Given the description of an element on the screen output the (x, y) to click on. 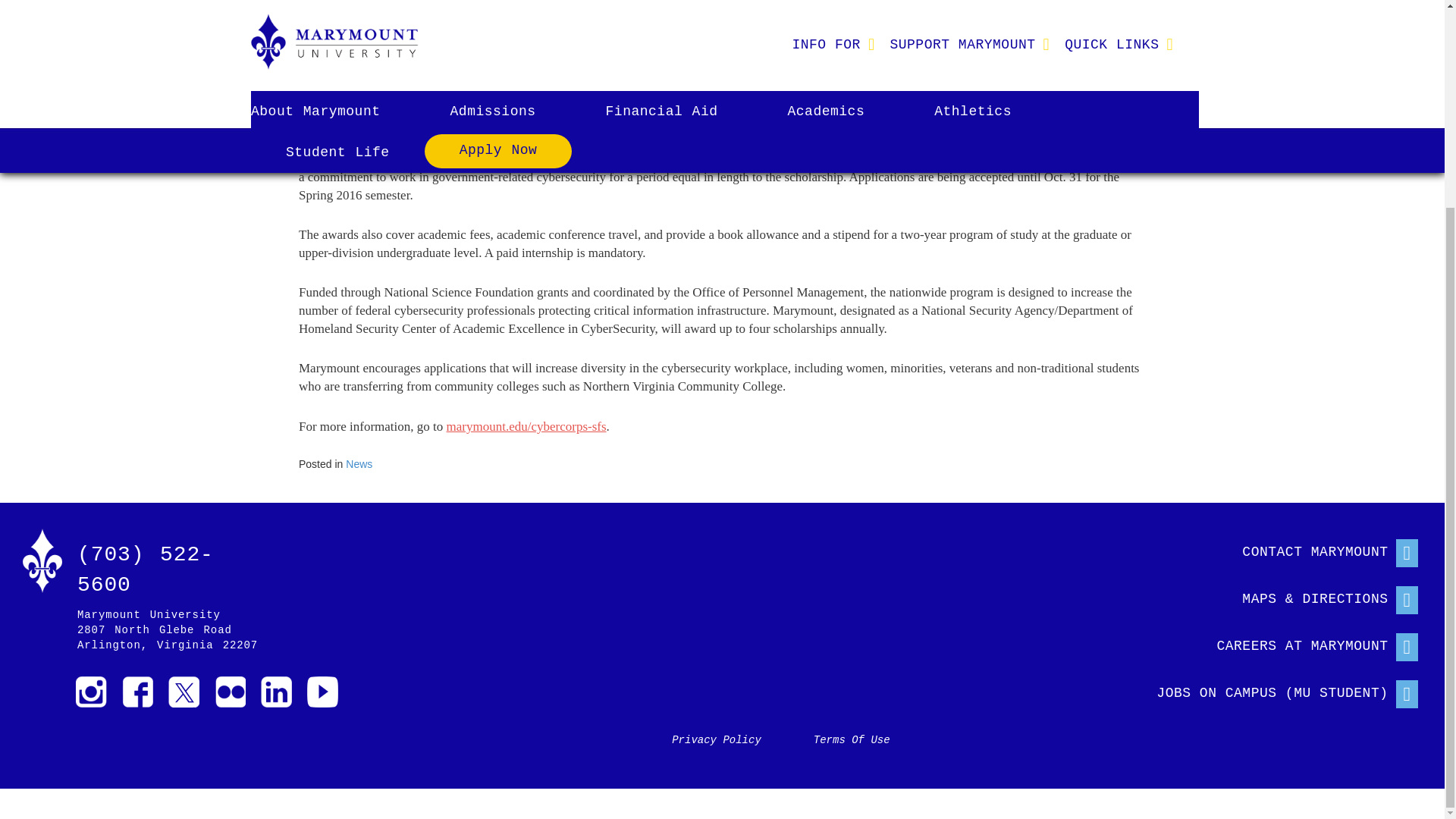
twitter (183, 691)
instagram (90, 691)
Youtube (322, 691)
Careers at MU (1271, 643)
Contact Us (1271, 549)
linkedin (276, 691)
facebook (137, 691)
flickr (230, 691)
